Given the description of an element on the screen output the (x, y) to click on. 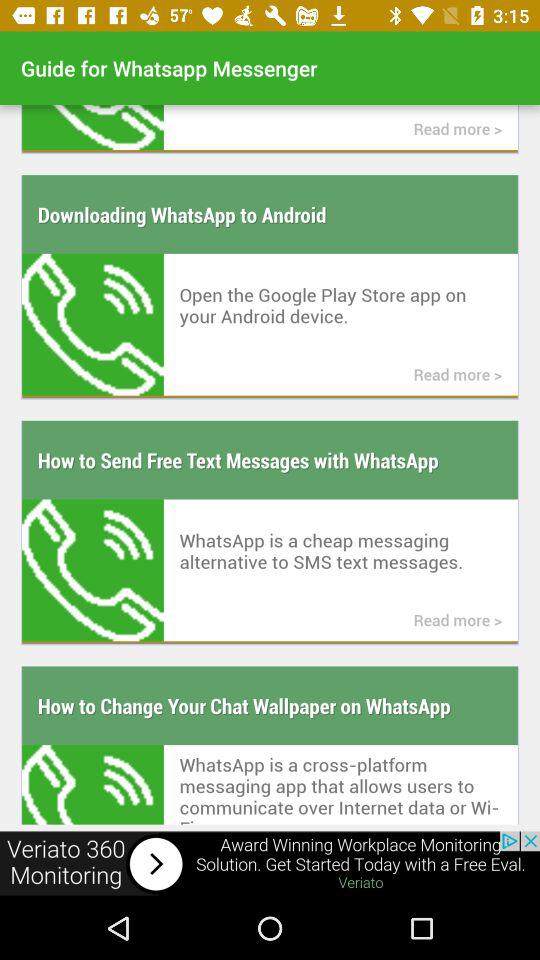
open advertisement (270, 864)
